Given the description of an element on the screen output the (x, y) to click on. 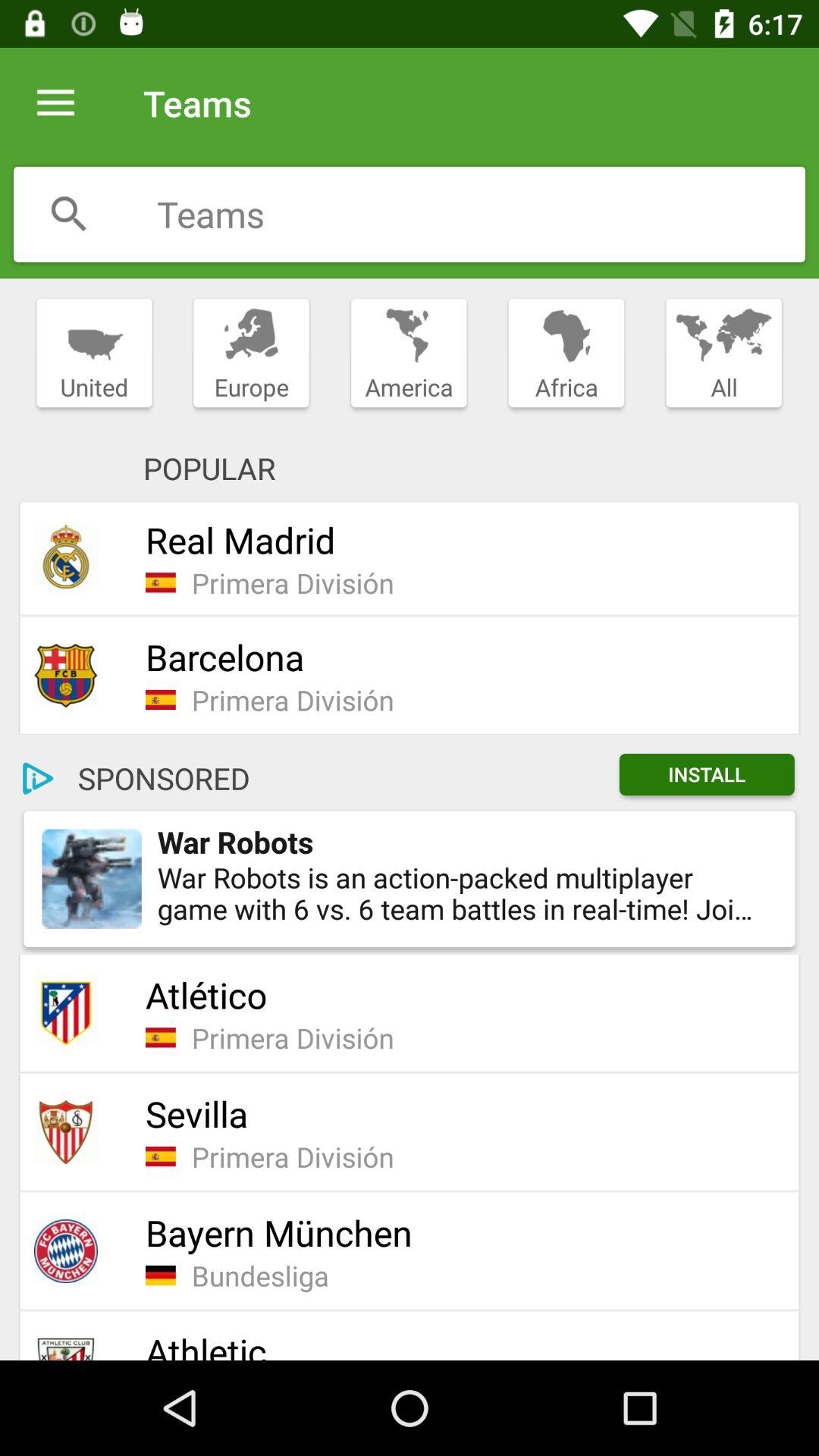
select the item next to sponsored (706, 774)
